Given the description of an element on the screen output the (x, y) to click on. 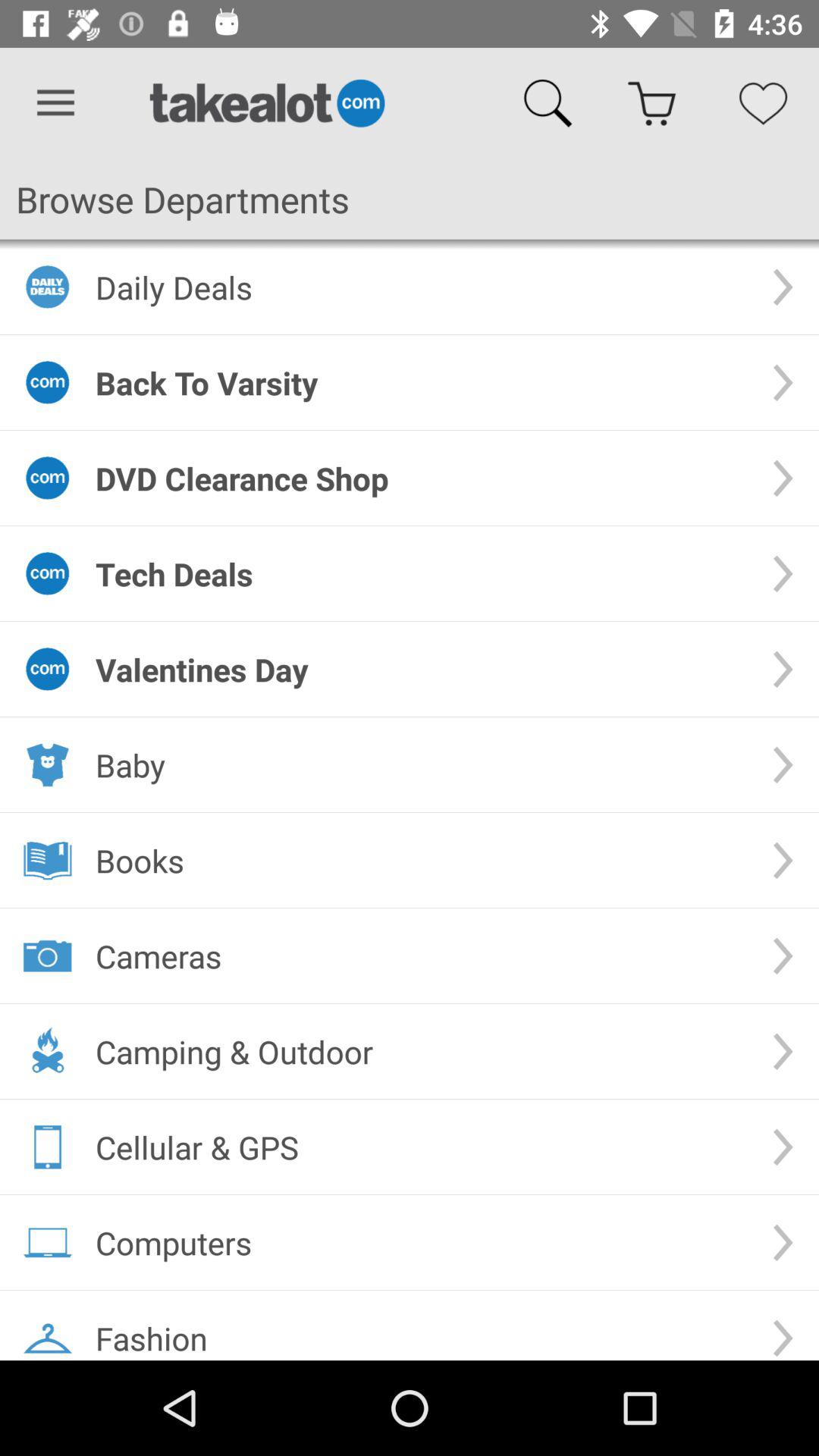
select icon above the cameras item (421, 860)
